Given the description of an element on the screen output the (x, y) to click on. 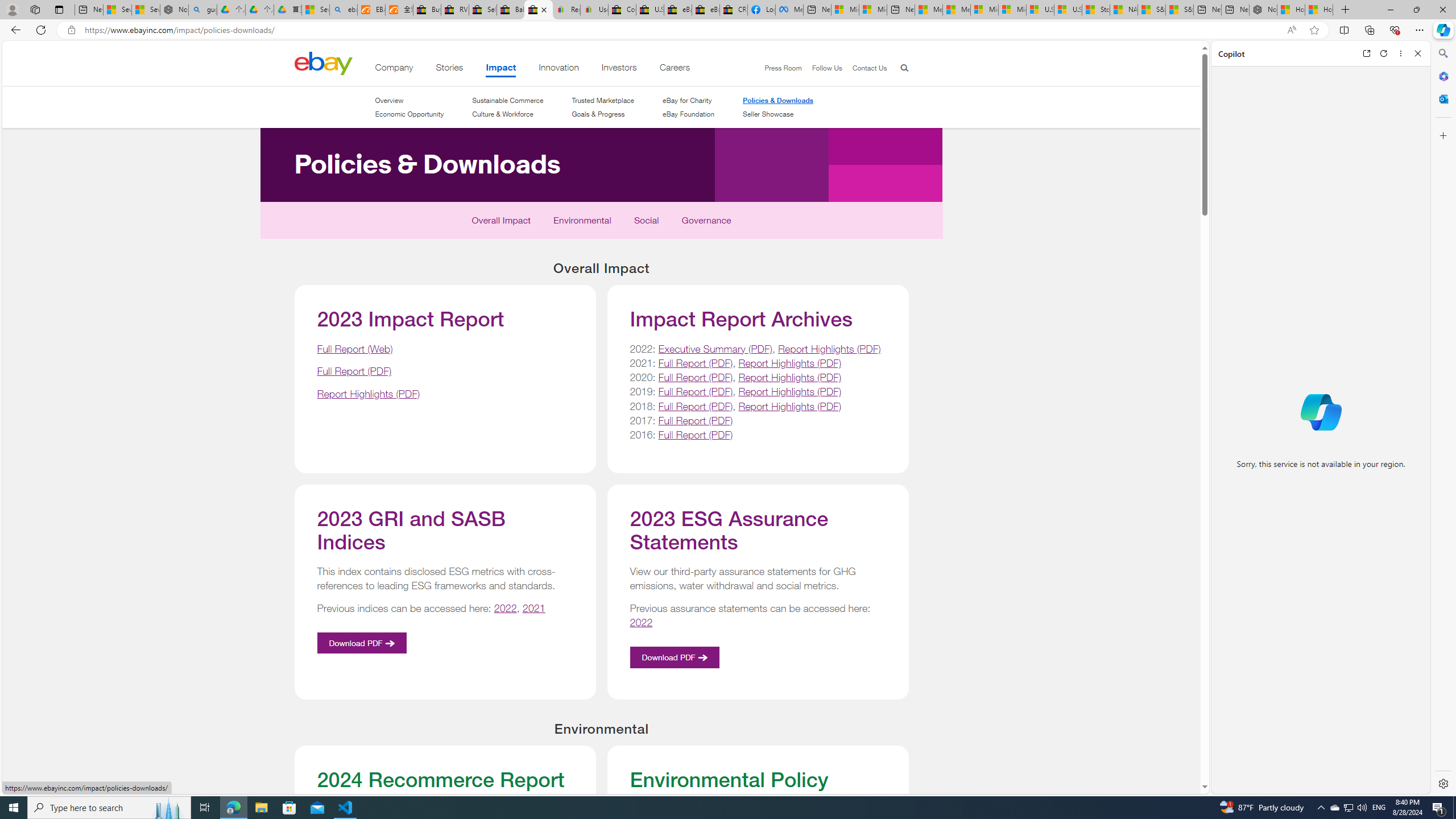
Trusted Marketplace (603, 100)
eBay Foundation (688, 113)
2022 (640, 622)
eBay Foundation (688, 113)
Customize (1442, 135)
Innovation (558, 69)
Culture & Workforce (501, 113)
Follow Us (826, 67)
Careers (674, 69)
